Given the description of an element on the screen output the (x, y) to click on. 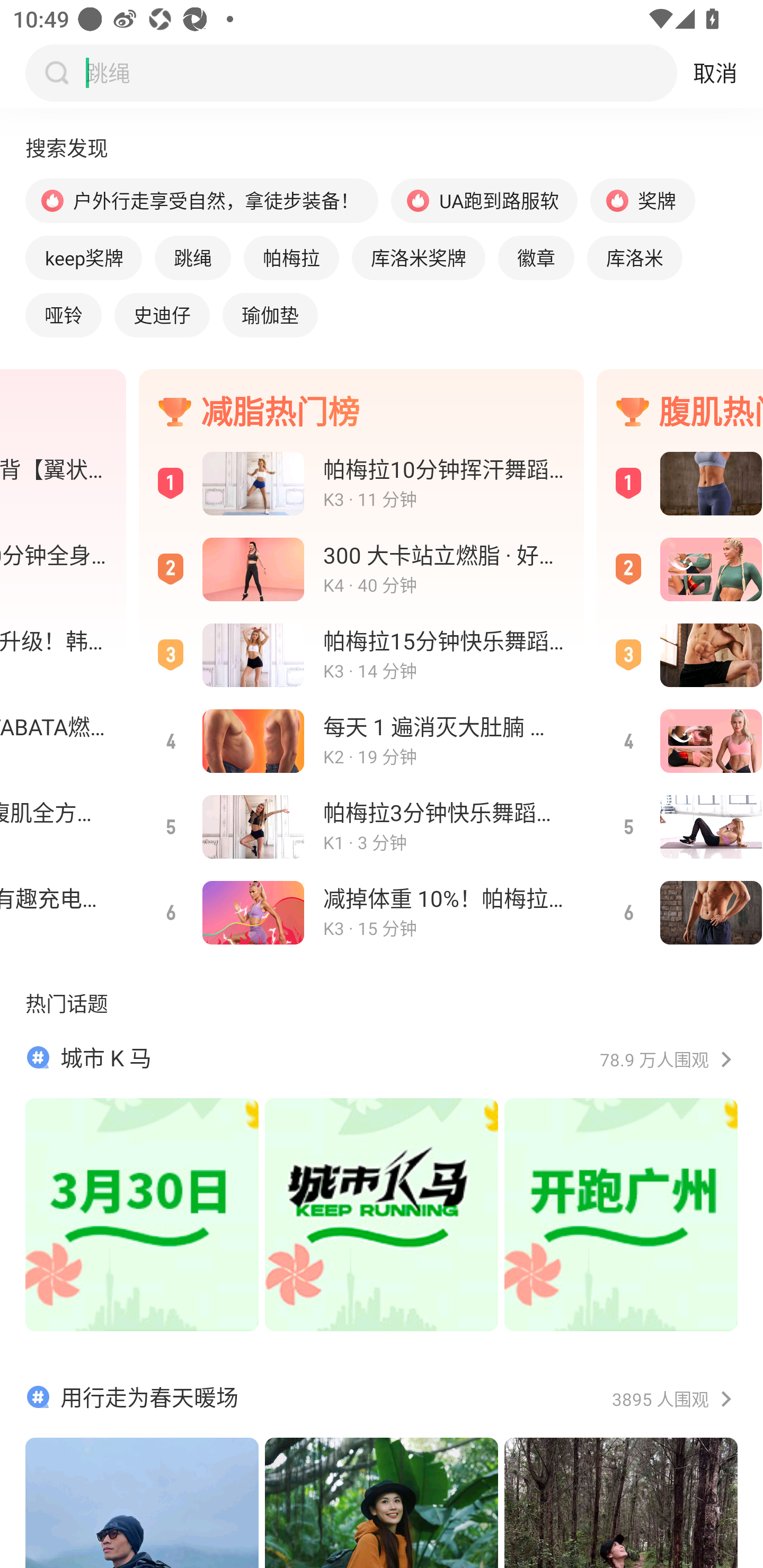
跳绳 EditSearch (377, 72)
取消 (714, 72)
户外行走享受自然，拿徒步装备！ (201, 200)
UA跑到路服软 (483, 200)
奖牌 (642, 200)
keep奖牌 (83, 257)
跳绳 (192, 257)
帕梅拉 (290, 257)
库洛米奖牌 (418, 257)
徽章 (536, 257)
库洛米 (634, 257)
哑铃 (63, 315)
史迪仔 (161, 315)
瑜伽垫 (270, 315)
热门课榜 热门课榜 帕梅拉10分钟挥汗舞蹈 让身体充满内啡肽 K3 · 11 分钟 (360, 483)
热门课榜 (679, 483)
热门课榜 (679, 569)
热门课榜 热门课榜 帕梅拉15分钟快乐舞蹈操·高效减脂 K3 · 14 分钟 (360, 655)
热门课榜 (679, 655)
4 热门课榜 每天 1 遍消灭大肚腩 强效暴汗甩脂｜大体重专属 K2 · 19 分钟 (360, 740)
4 热门课榜 (679, 740)
5 热门课榜 帕梅拉3分钟快乐舞蹈操 全身热身唤醒 K1 · 3 分钟 (360, 827)
5 热门课榜 (679, 827)
6 热门课榜 (679, 912)
热门话题 城市 K 马 78.9 万人围观 (381, 1178)
用行走为春天暖场 3895 人围观 (381, 1474)
